Given the description of an element on the screen output the (x, y) to click on. 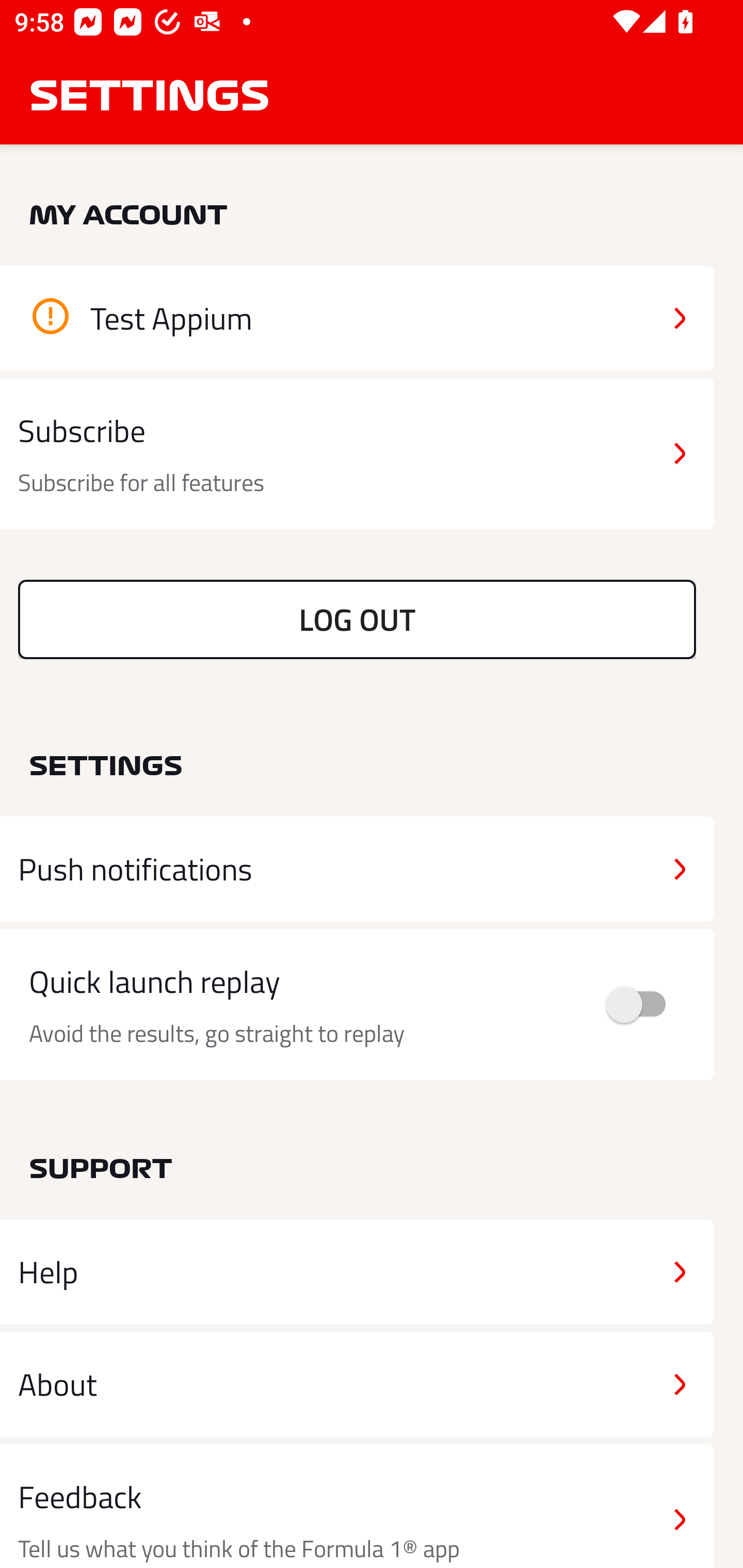
Test Appium (357, 317)
Subscribe Subscribe for all features (357, 453)
LOG OUT (356, 619)
Push notifications (357, 868)
Help (357, 1271)
About (357, 1383)
